Given the description of an element on the screen output the (x, y) to click on. 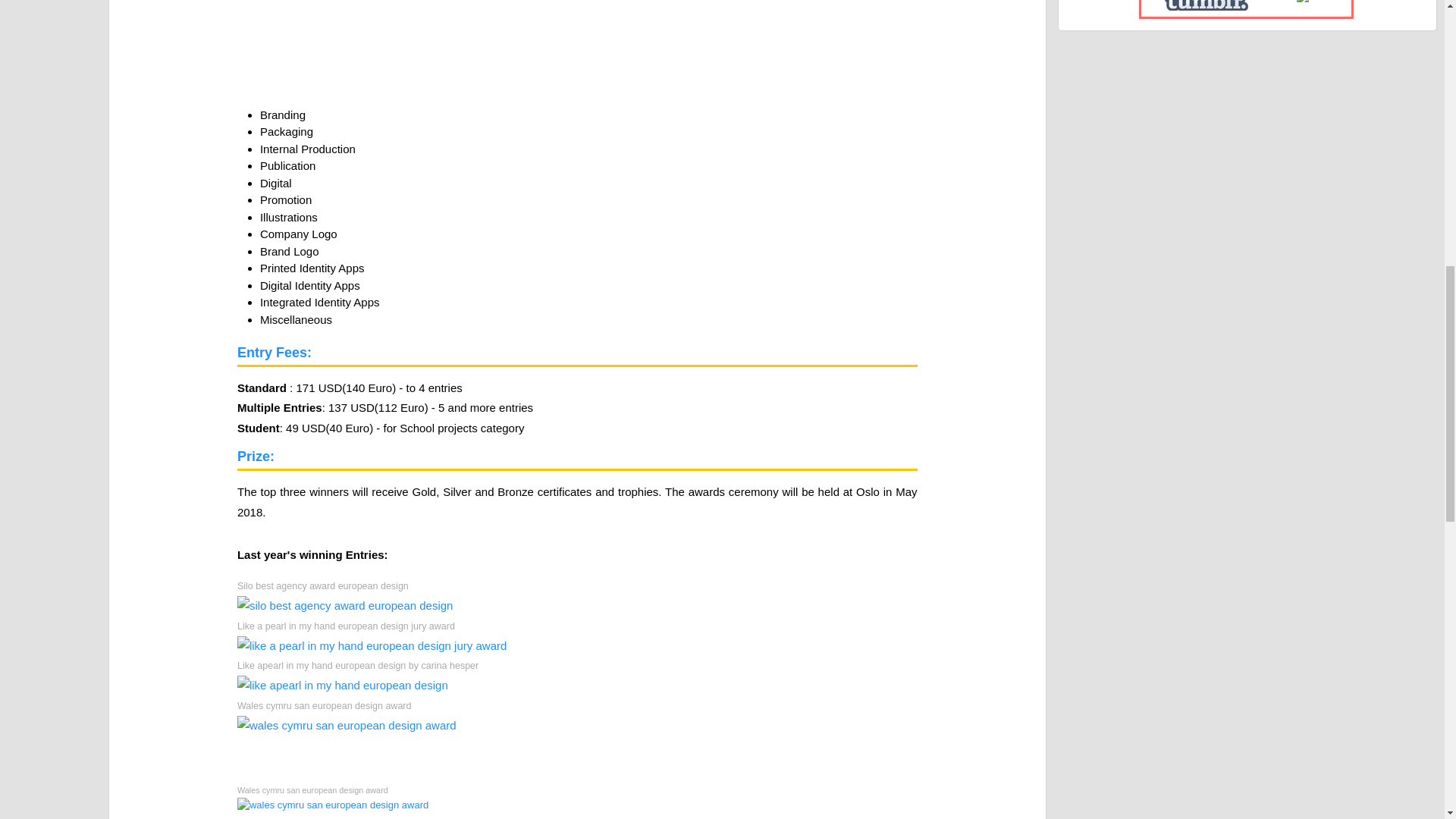
like apearl in my hand european design (342, 685)
wales cymru san european design award (332, 805)
like a pearl in my hand european design jury award (371, 646)
Advertisement (580, 49)
wales cymru san european design award (347, 725)
silo best agency award european design (344, 605)
